Given the description of an element on the screen output the (x, y) to click on. 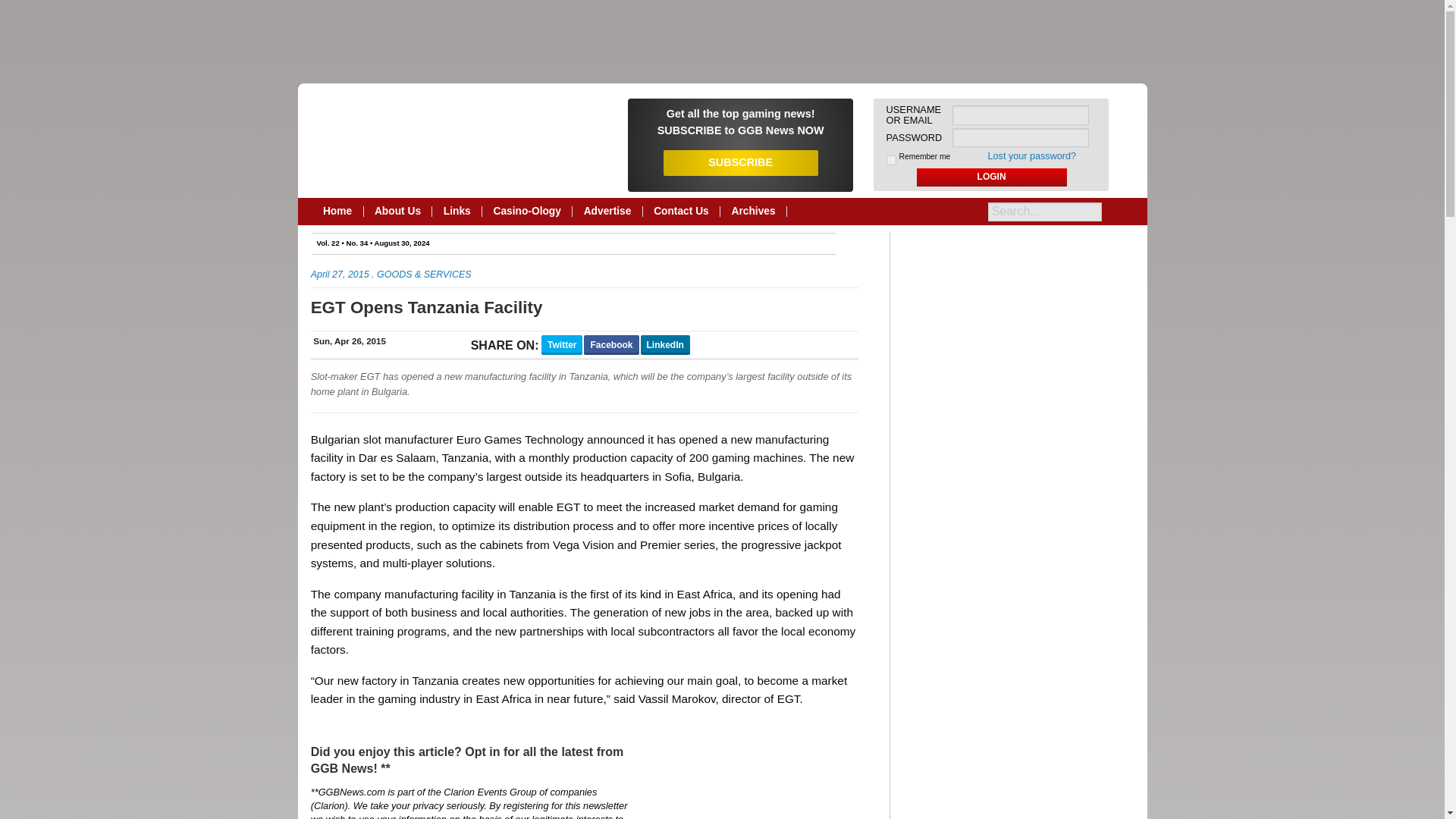
Links (456, 211)
Advertise (607, 211)
Casino-Ology (526, 211)
Lost your password? (1032, 155)
Search for: (1045, 211)
1 (891, 160)
About Us (398, 211)
Archives (753, 211)
Get all the top gaming news! SUBSCRIBE to GGB News NOW (741, 121)
Subscribe (741, 121)
